Given the description of an element on the screen output the (x, y) to click on. 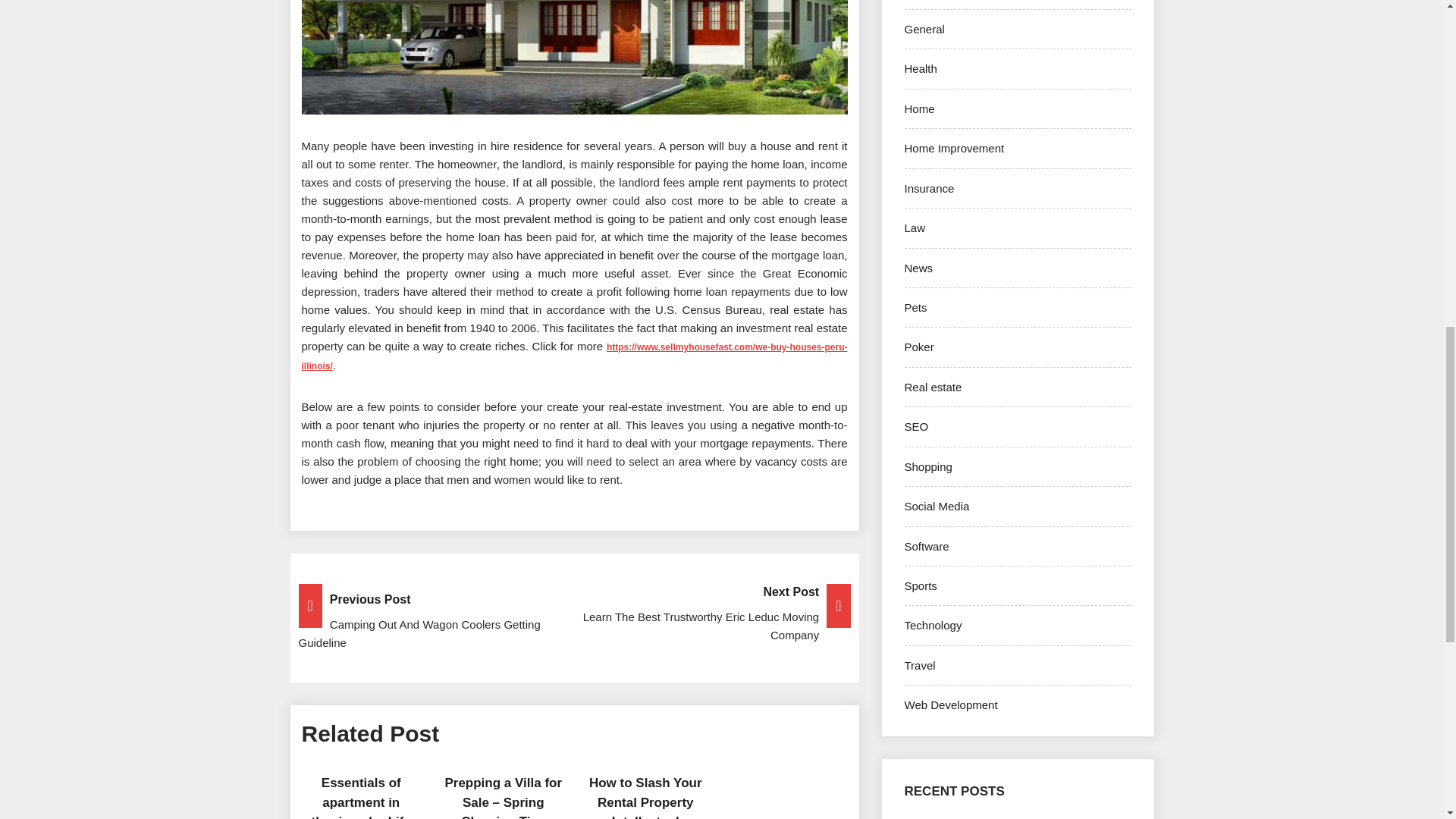
Home (919, 108)
Law (914, 227)
Home Improvement (954, 147)
General (923, 29)
Health (920, 68)
News (918, 267)
Insurance (928, 187)
Pets (915, 307)
Essentials of apartment in thanisandra Life (360, 797)
How to Slash Your Rental Property Intellectual Expense? (645, 797)
